Given the description of an element on the screen output the (x, y) to click on. 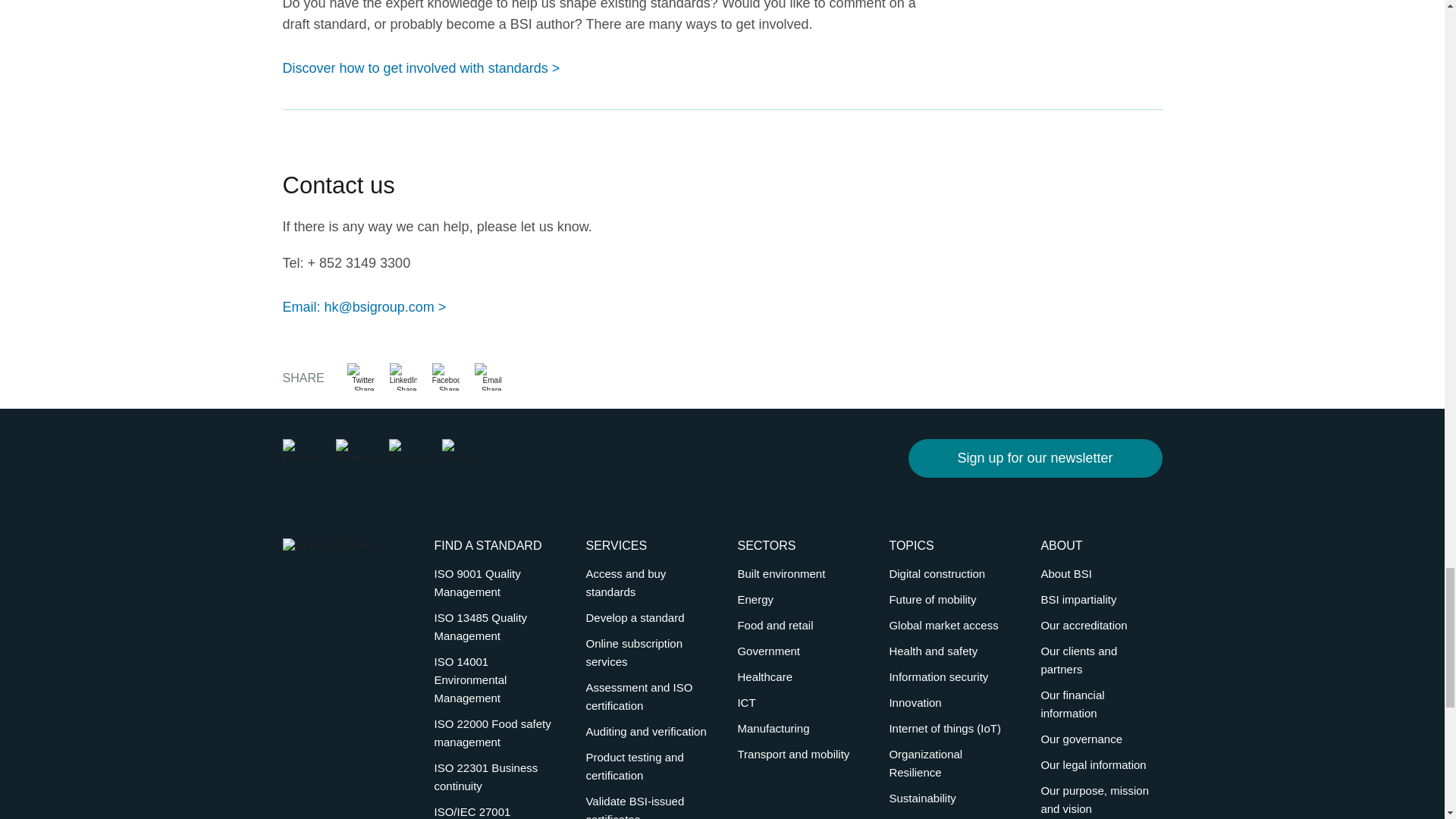
Sign up for our newsletter (1034, 457)
